Given the description of an element on the screen output the (x, y) to click on. 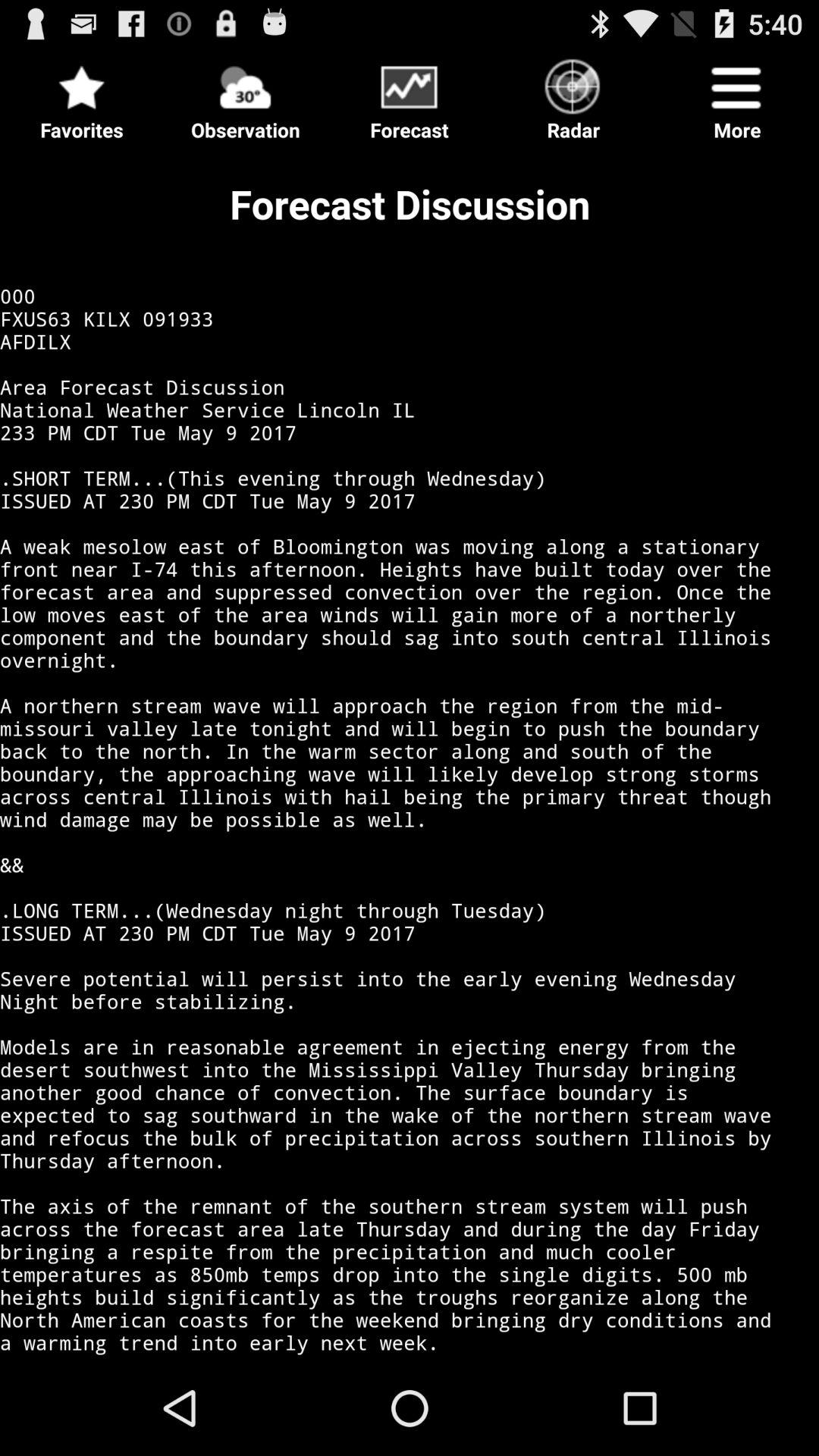
turn off radar icon (573, 95)
